Given the description of an element on the screen output the (x, y) to click on. 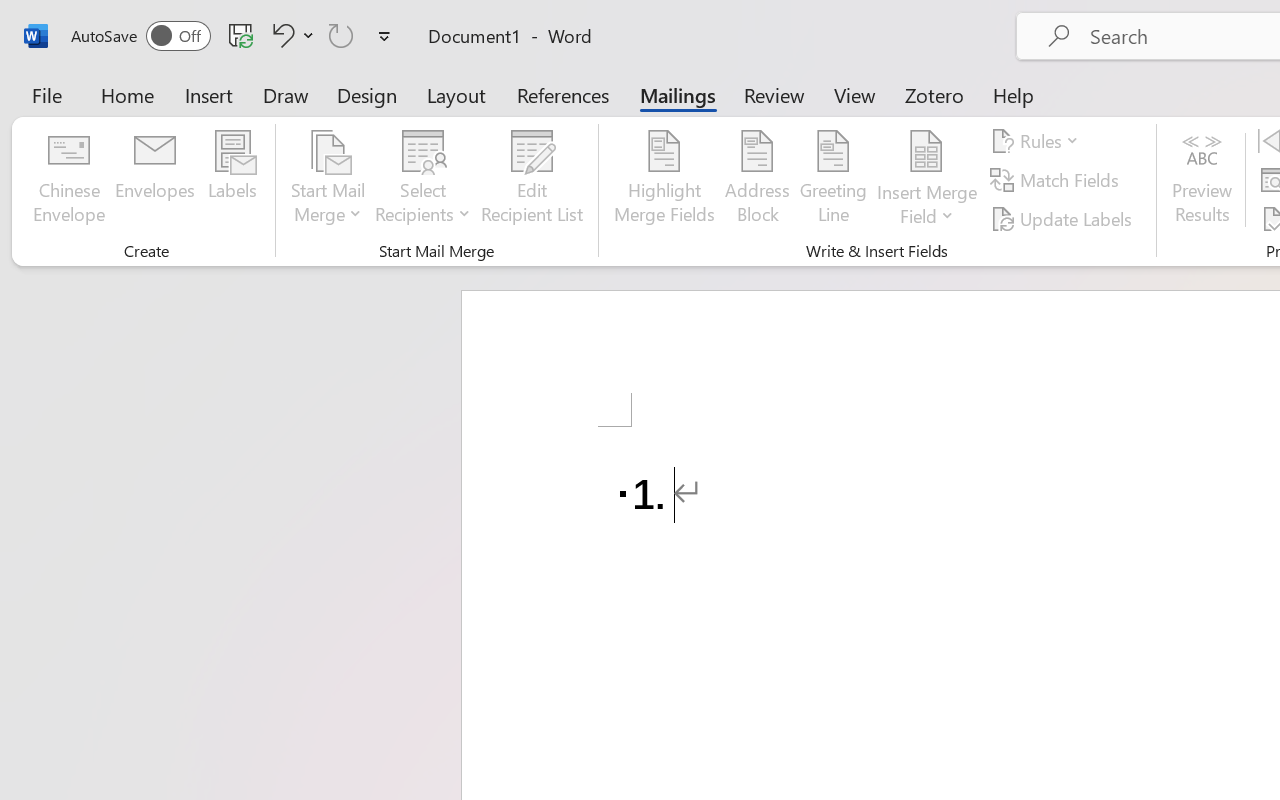
Select Recipients (423, 179)
Undo Number Default (290, 35)
Greeting Line... (833, 179)
Envelopes... (155, 179)
Edit Recipient List... (532, 179)
Undo Number Default (280, 35)
